Given the description of an element on the screen output the (x, y) to click on. 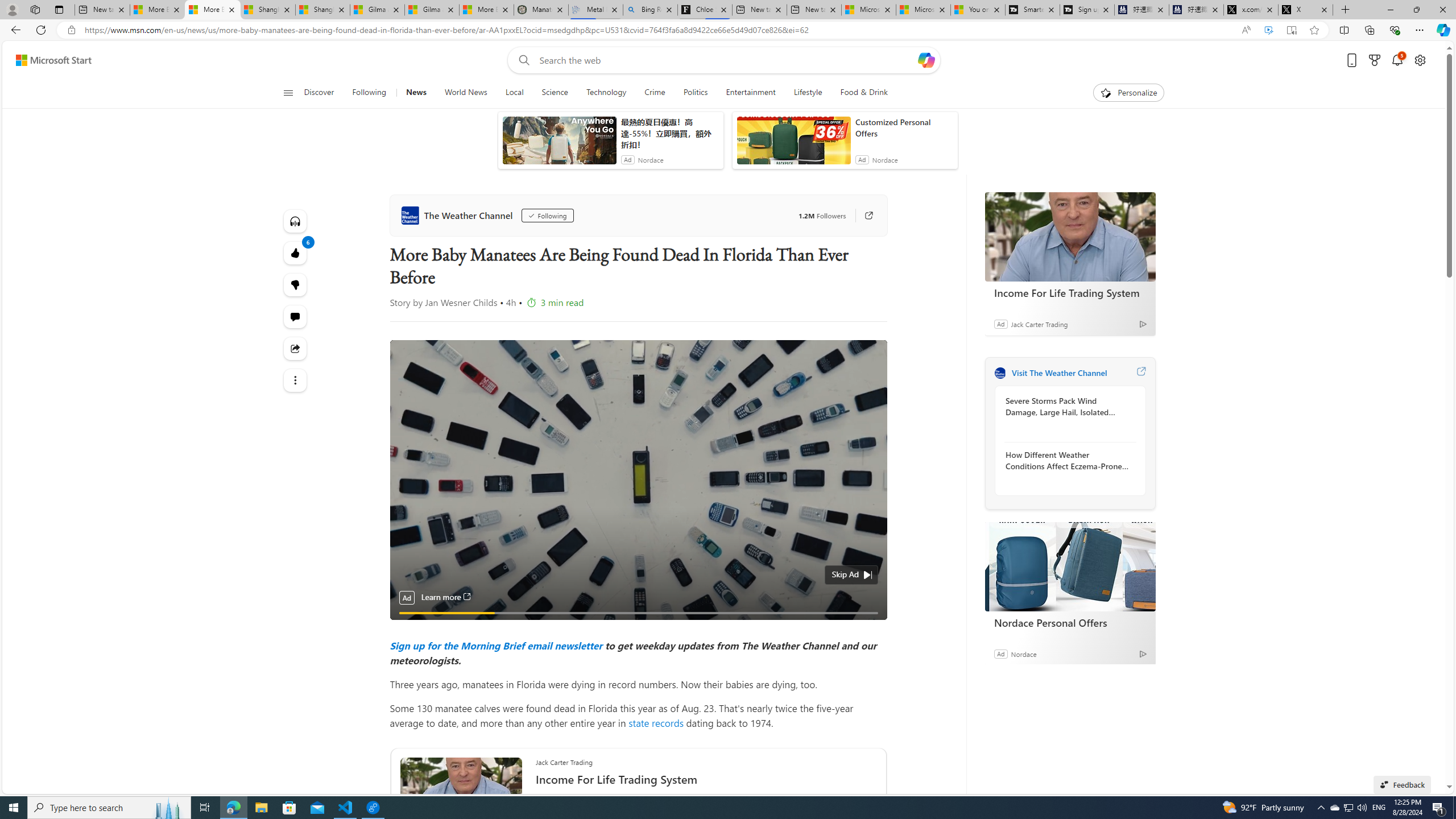
Politics (694, 92)
Lifestyle (807, 92)
Gilma and Hector both pose tropical trouble for Hawaii (432, 9)
Share this story (295, 348)
Sign up for the Morning Brief email newsletter (496, 644)
Crime (654, 92)
Science (554, 92)
The Weather Channel (1000, 372)
